Given the description of an element on the screen output the (x, y) to click on. 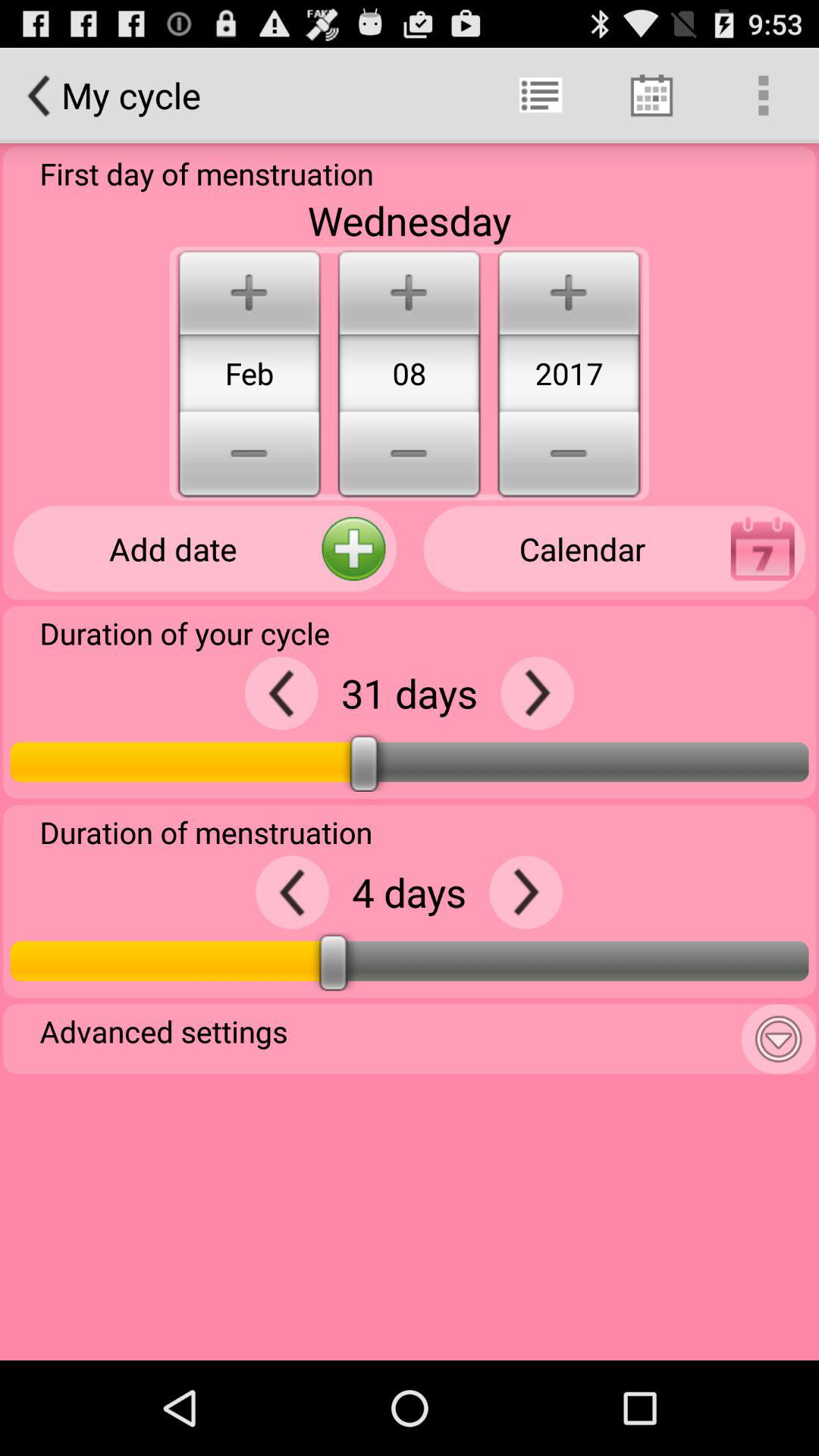
decrease number (292, 892)
